Given the description of an element on the screen output the (x, y) to click on. 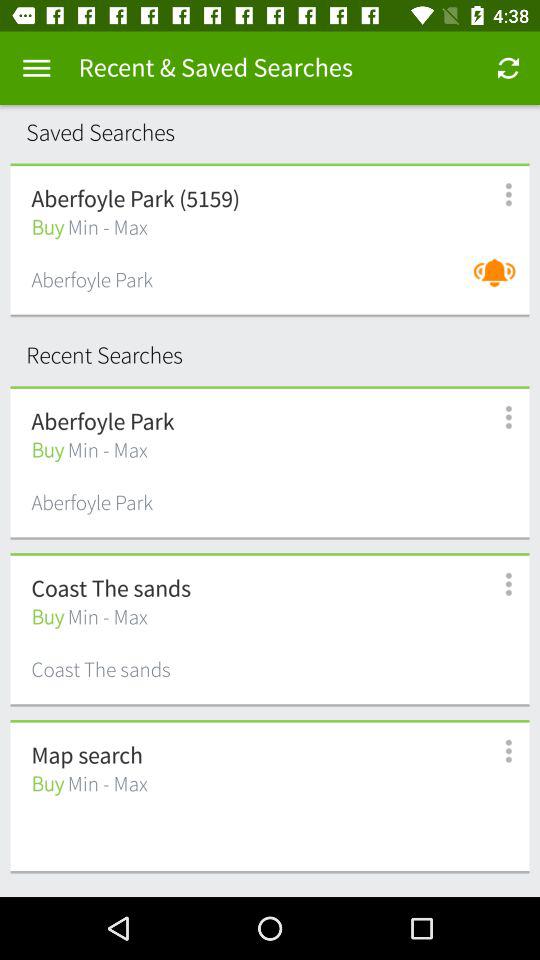
launch app to the right of recent & saved searches (508, 67)
